Given the description of an element on the screen output the (x, y) to click on. 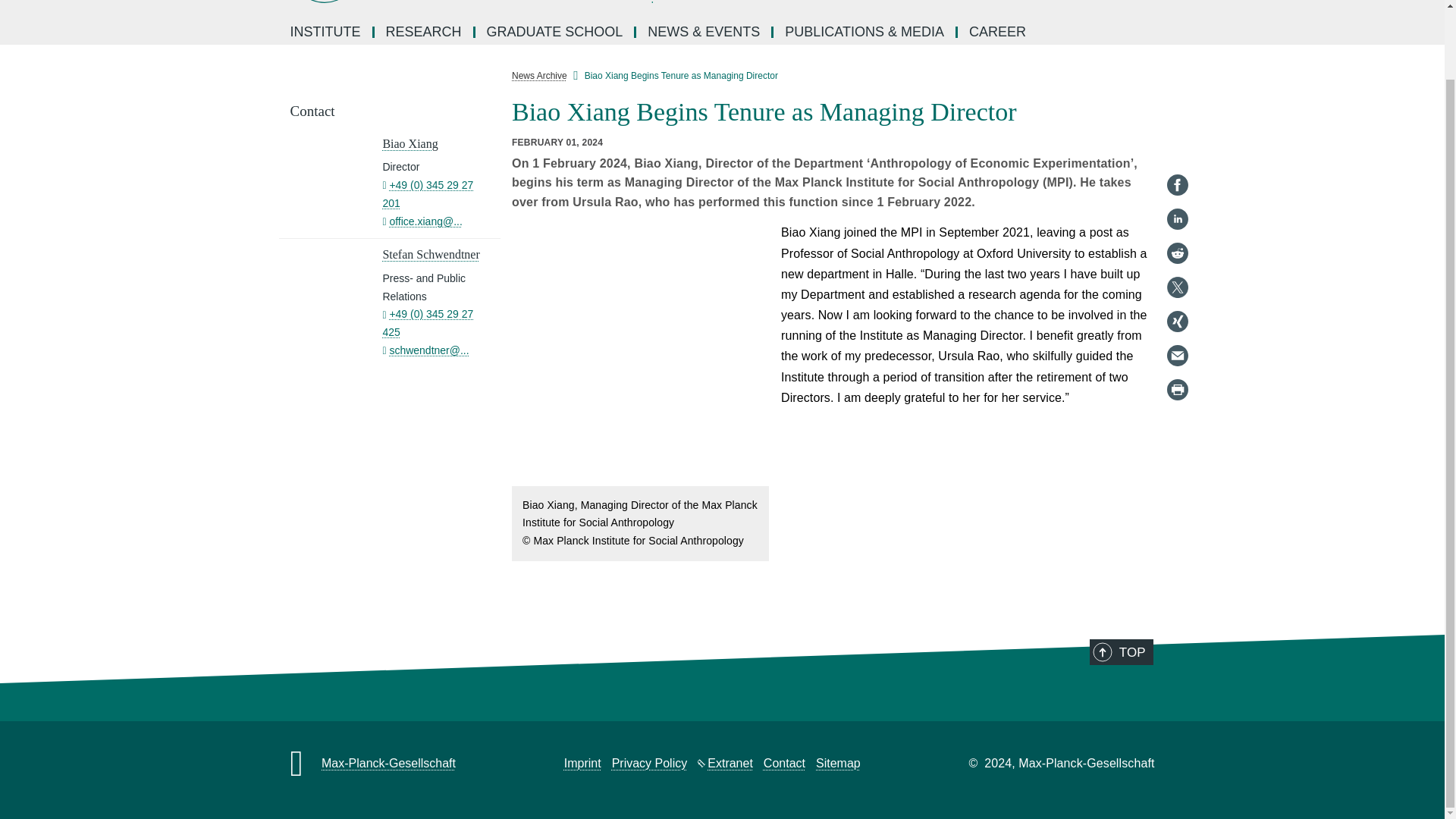
Xing (1177, 244)
INSTITUTE (326, 31)
More information about Stefan Schwendtner (430, 254)
Reddit (1177, 176)
E-Mail (1177, 278)
Print (1177, 313)
More information about Biao Xiang (409, 143)
RESEARCH (425, 31)
opens zoom view (640, 353)
LinkedIn (1177, 142)
Twitter (1177, 210)
Facebook (1177, 108)
